Given the description of an element on the screen output the (x, y) to click on. 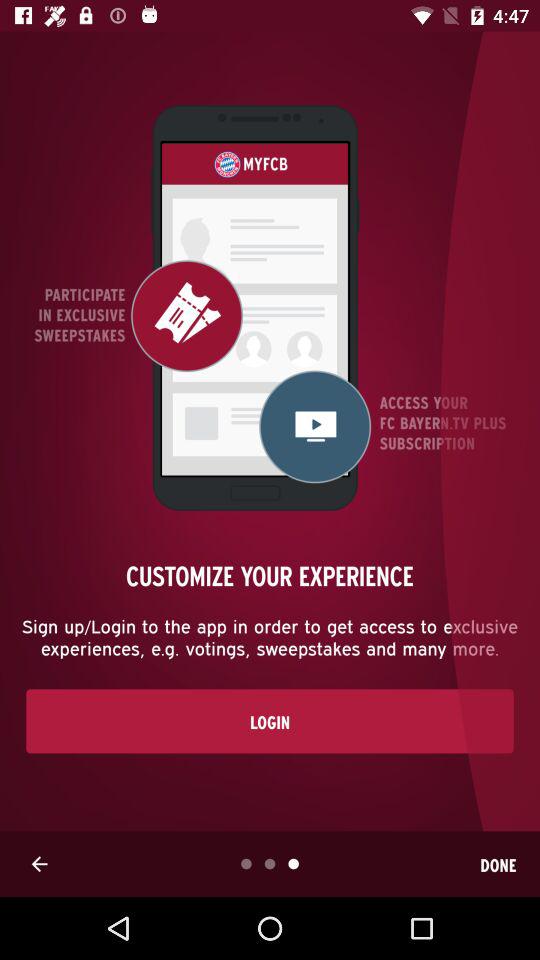
launch icon at the bottom left corner (39, 864)
